Given the description of an element on the screen output the (x, y) to click on. 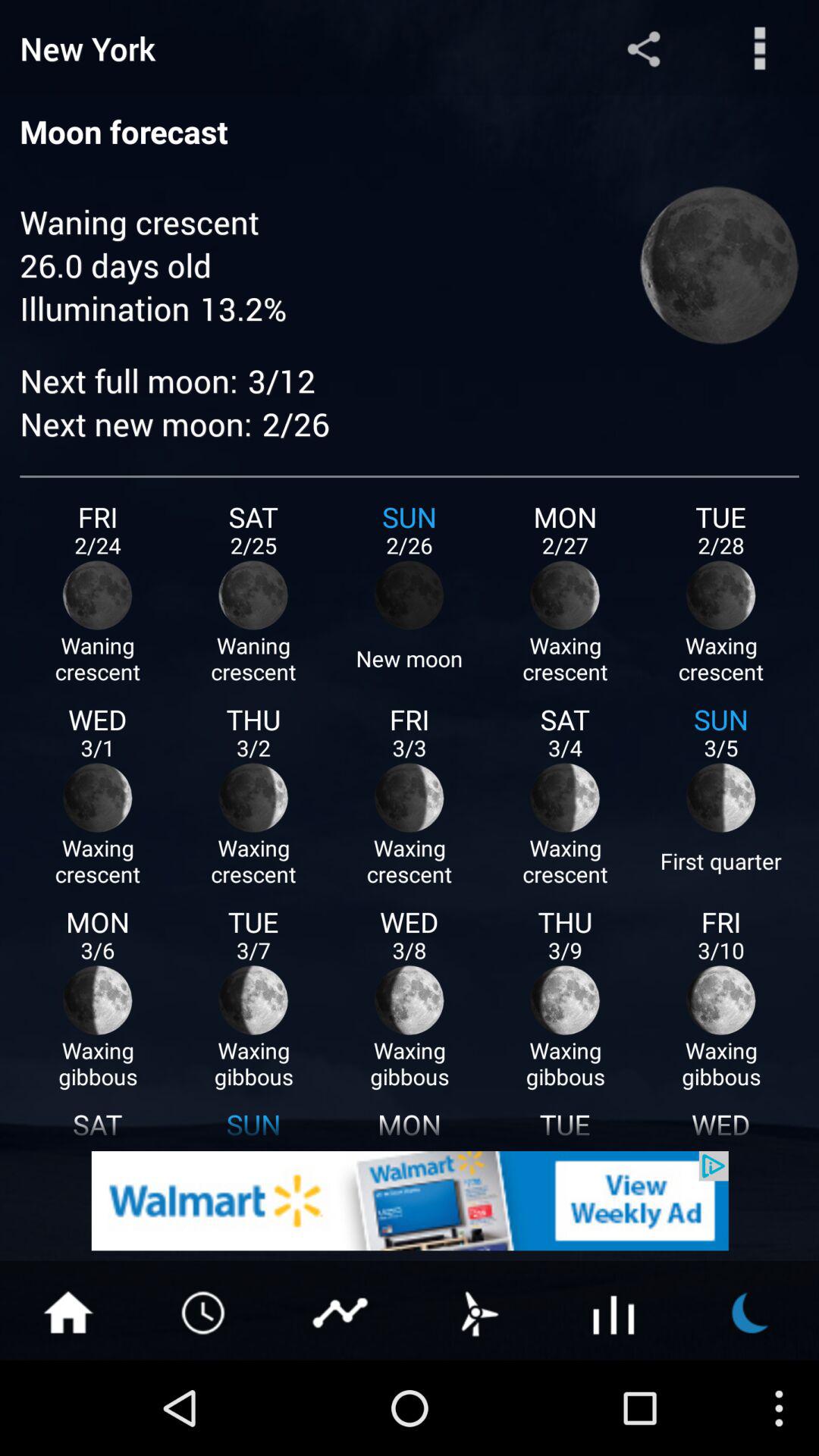
share button (643, 48)
